Given the description of an element on the screen output the (x, y) to click on. 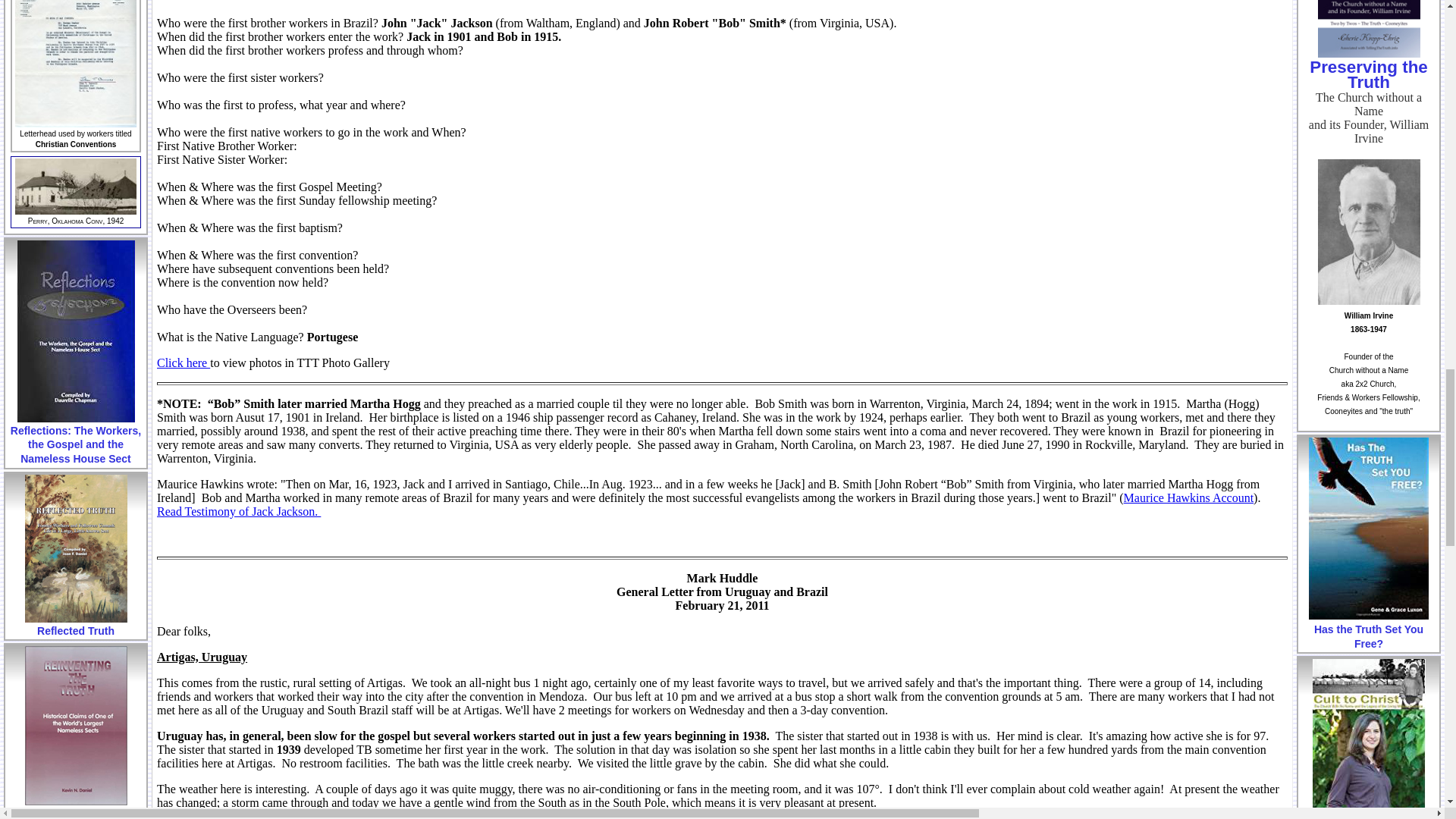
Has the Truth Set You Free? (1368, 528)
Perry Oklahoma, 1942 (75, 186)
Letterhead used by workers (75, 63)
Cult to Christ (1368, 739)
Reflected Truth (75, 548)
Reinventing the Truth (75, 725)
